Given the description of an element on the screen output the (x, y) to click on. 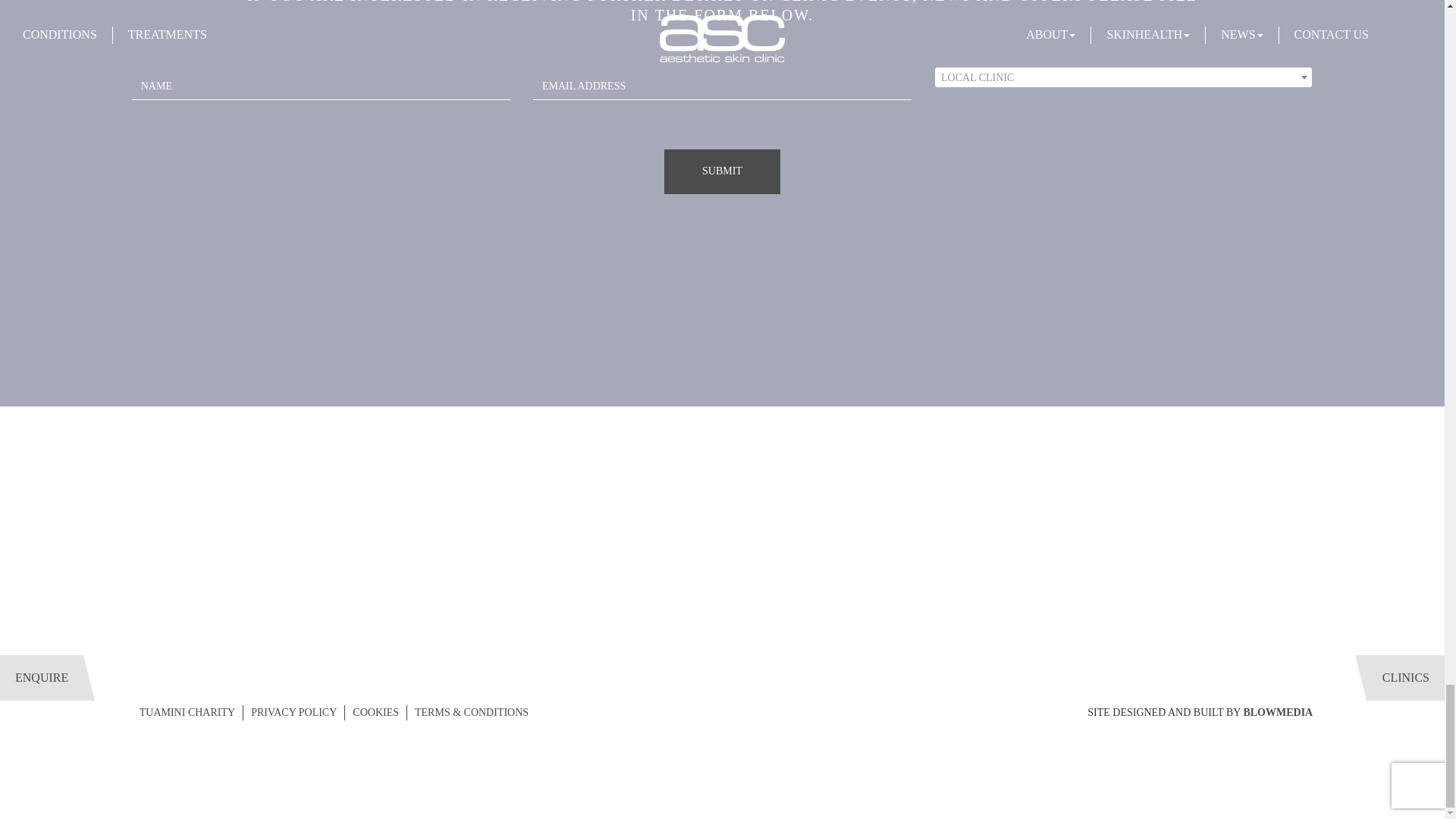
Blowmedia (1278, 712)
